Given the description of an element on the screen output the (x, y) to click on. 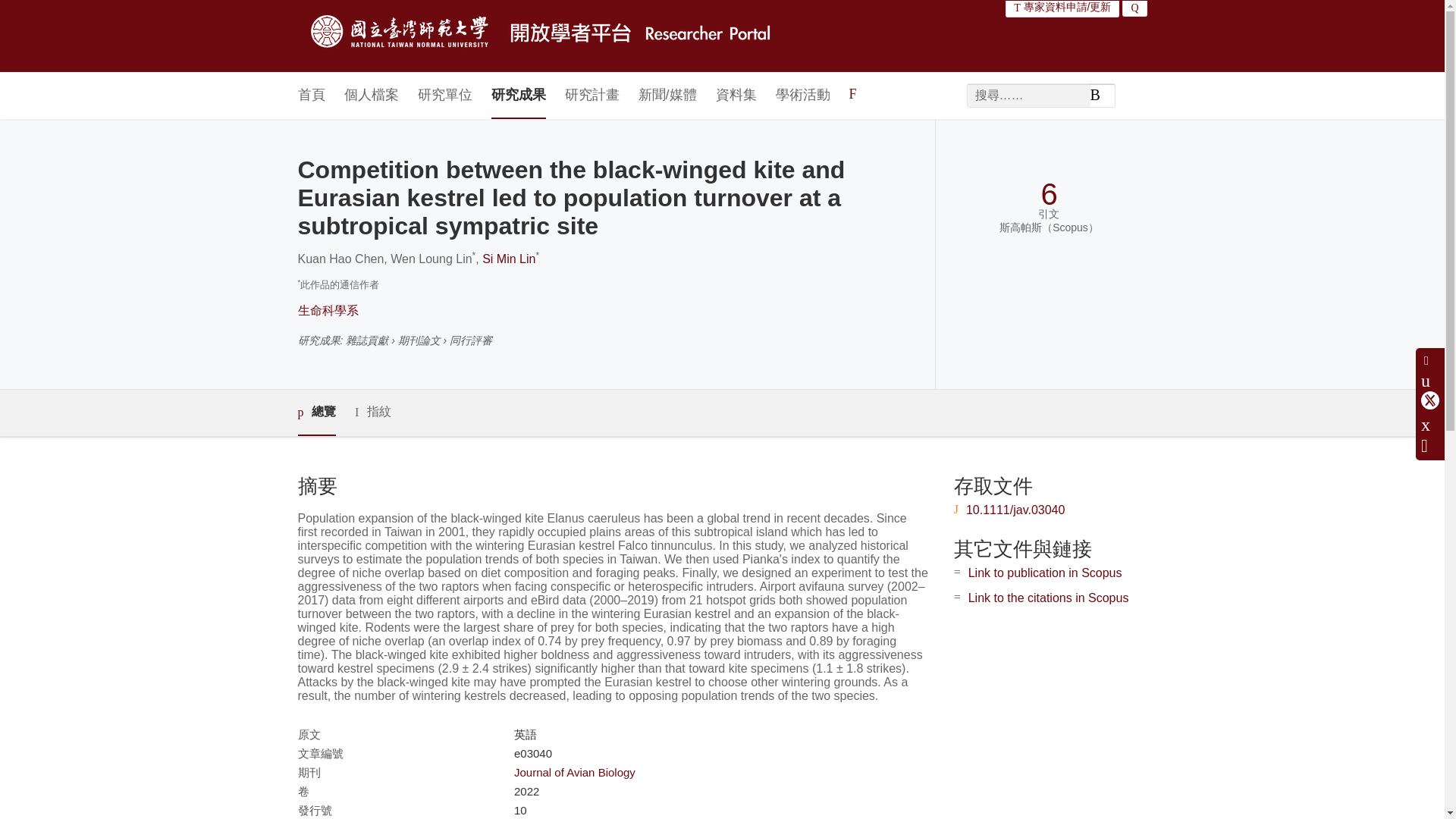
Journal of Avian Biology (573, 771)
Link to publication in Scopus (1045, 572)
Link to the citations in Scopus (1048, 597)
Si Min Lin (508, 258)
